Given the description of an element on the screen output the (x, y) to click on. 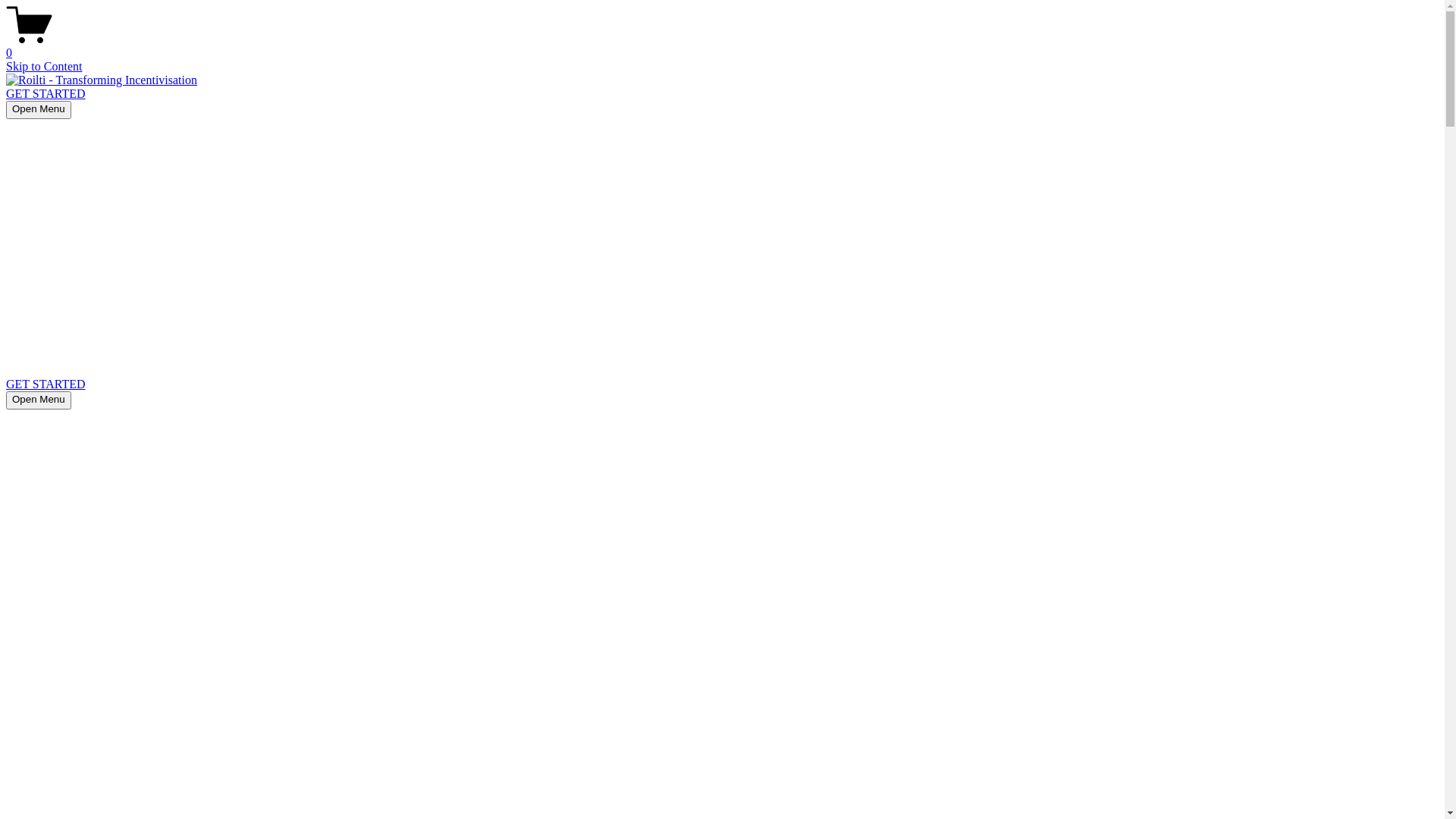
GET STARTED Element type: text (45, 383)
0 Element type: text (722, 45)
Skip to Content Element type: text (43, 65)
GET STARTED Element type: text (45, 93)
Open Menu Element type: text (38, 400)
Open Menu Element type: text (38, 109)
